Given the description of an element on the screen output the (x, y) to click on. 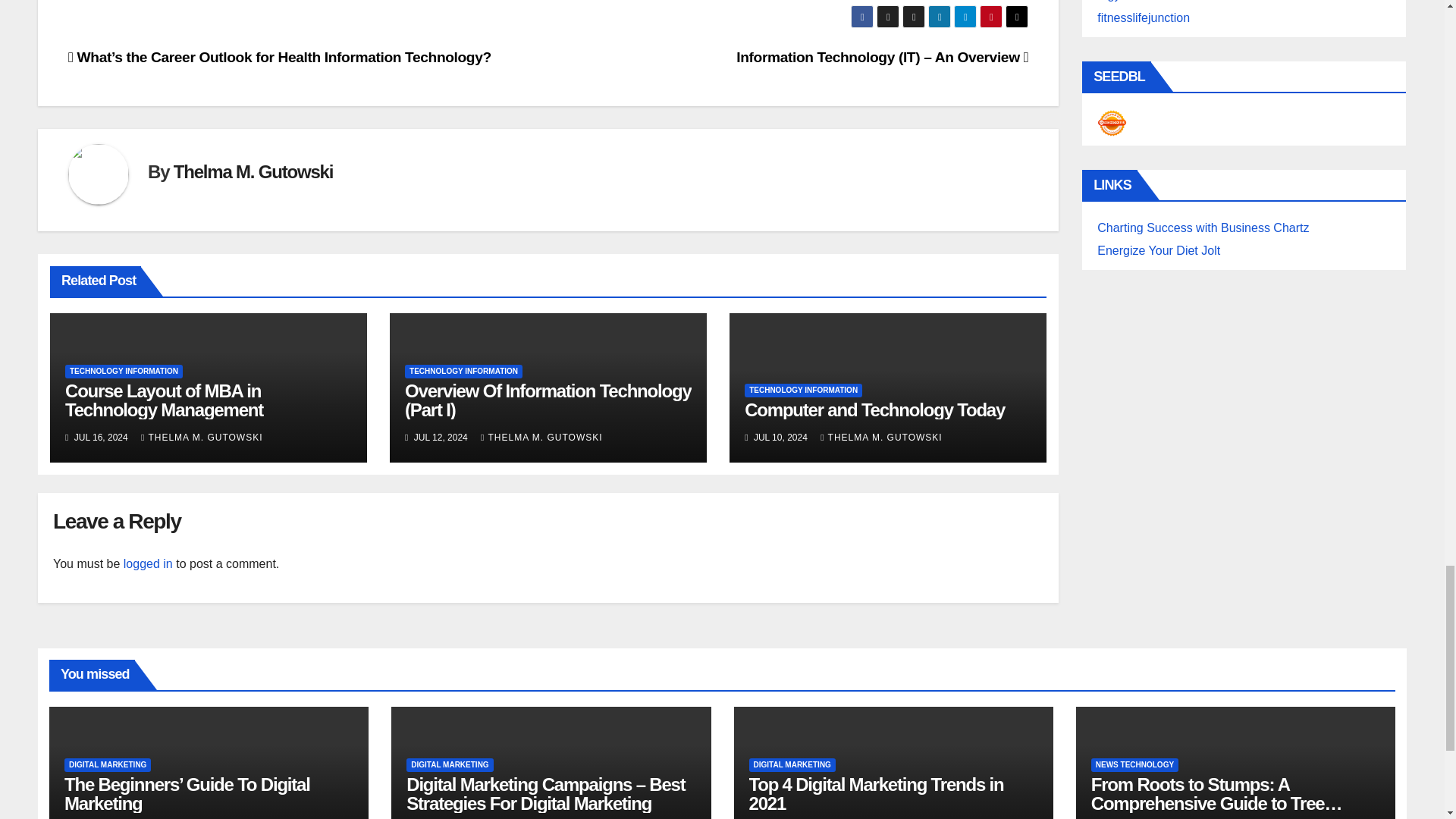
Permalink to: Course Layout of MBA in Technology Management (164, 400)
TECHNOLOGY INFORMATION (124, 371)
Thelma M. Gutowski (253, 171)
Permalink to: Computer and Technology Today (874, 409)
Course Layout of MBA in Technology Management (164, 400)
